Given the description of an element on the screen output the (x, y) to click on. 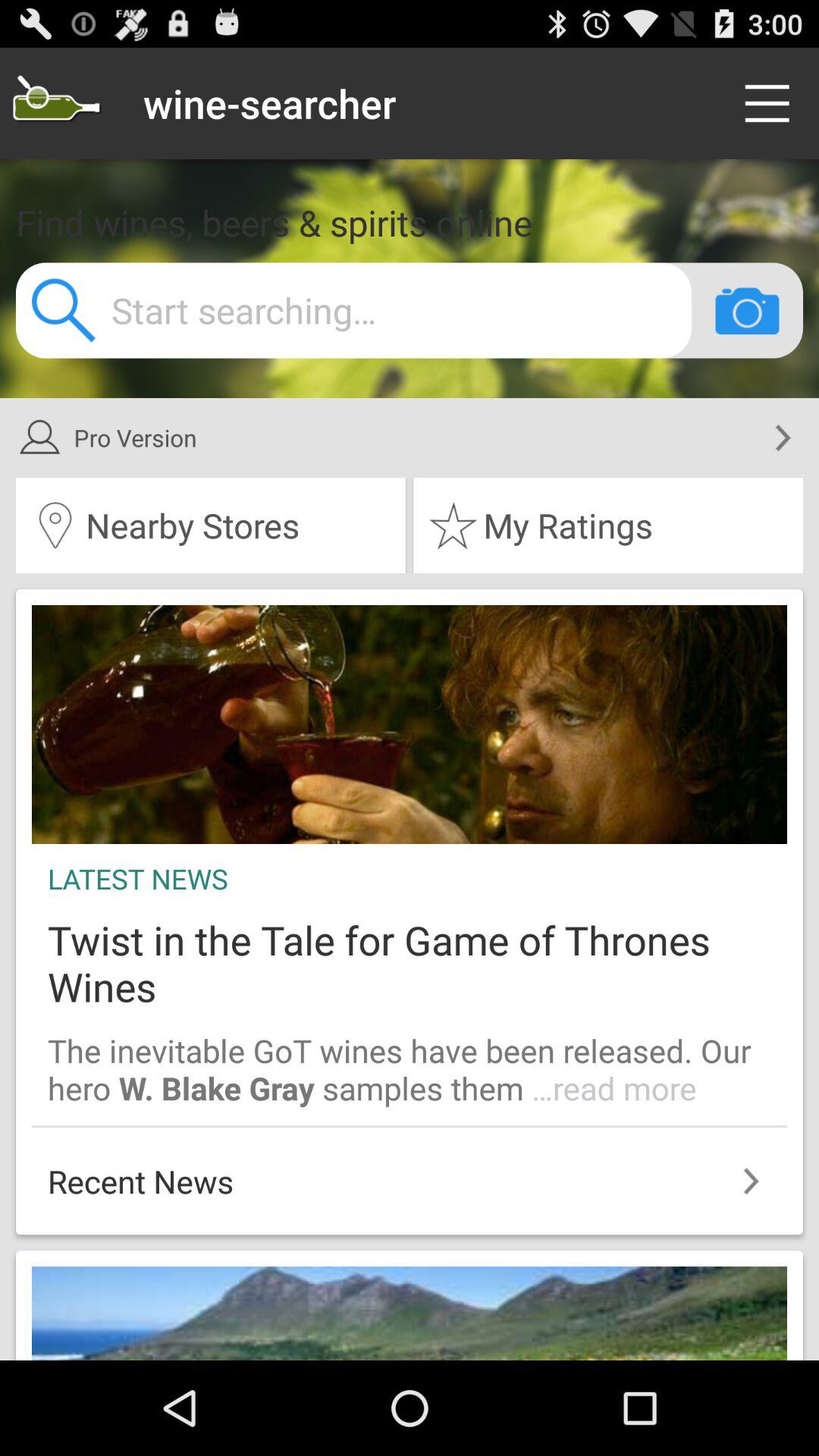
search button (55, 103)
